Given the description of an element on the screen output the (x, y) to click on. 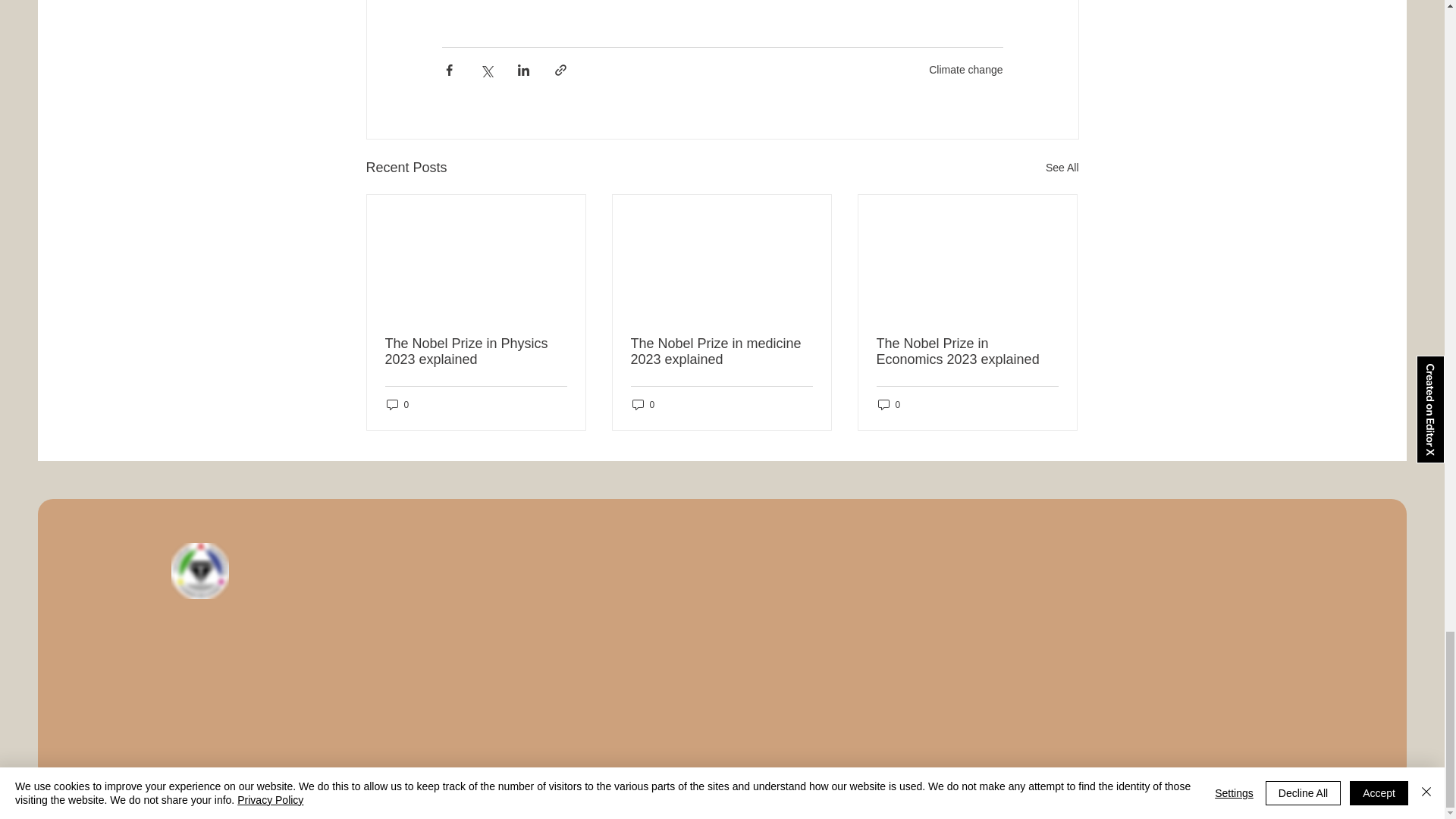
See All (1061, 168)
0 (643, 404)
0 (397, 404)
The Nobel Prize in Physics 2023 explained (476, 351)
0 (889, 404)
Climate change (965, 69)
The Nobel Prize in medicine 2023 explained (721, 351)
The Nobel Prize in Economics 2023 explained (967, 351)
